Given the description of an element on the screen output the (x, y) to click on. 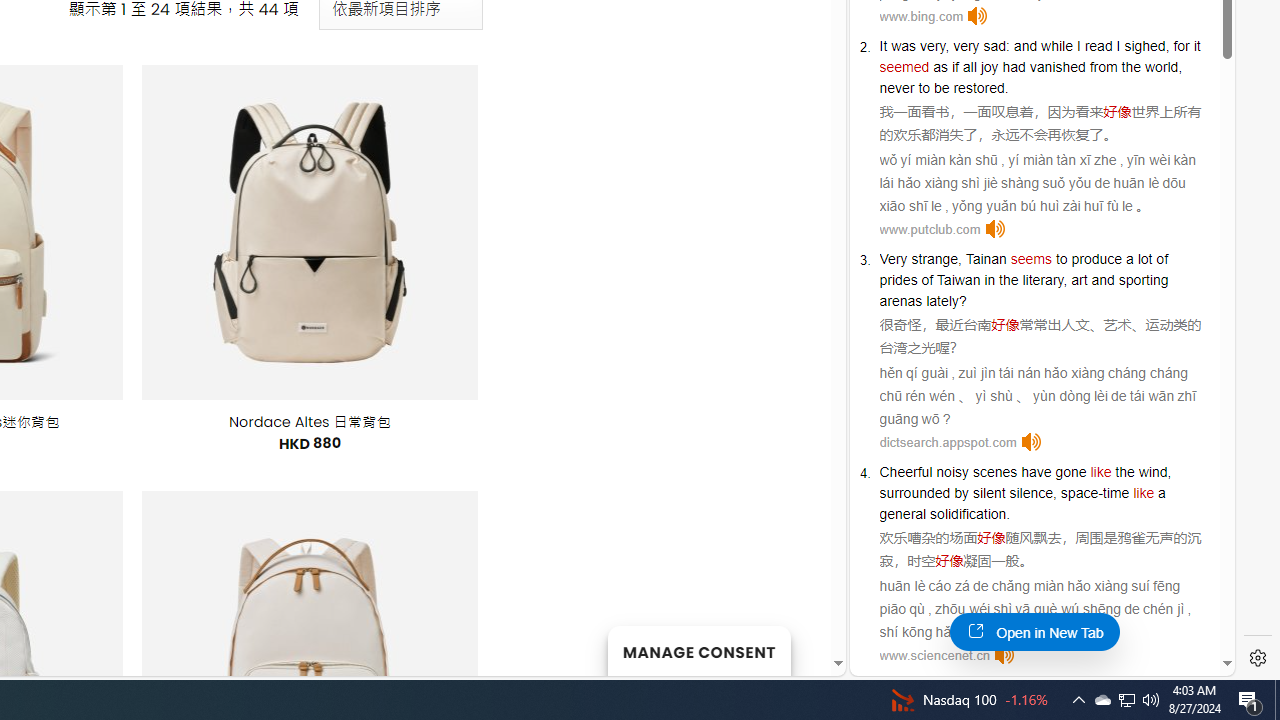
MANAGE CONSENT (698, 650)
Click to listen (1004, 655)
never (897, 87)
like (1143, 493)
Very (893, 259)
www.bing.com (921, 15)
